Given the description of an element on the screen output the (x, y) to click on. 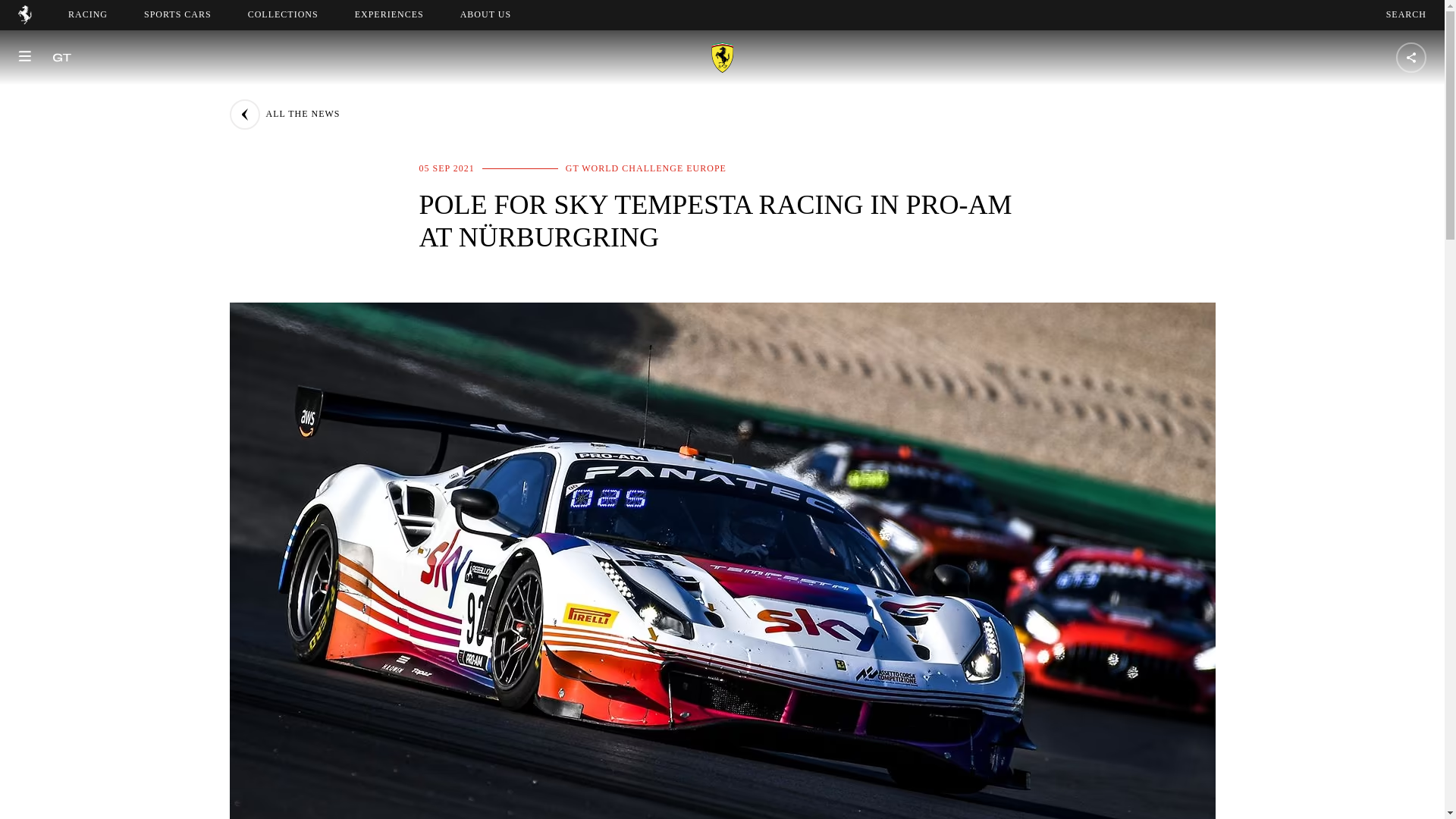
ALL THE NEWS (283, 114)
SPORTS CARS (177, 14)
Ferrari logo (24, 19)
EXPERIENCES (389, 14)
SEARCH (499, 14)
COLLECTIONS (1406, 14)
ABOUT US (282, 14)
RACING (485, 14)
